Given the description of an element on the screen output the (x, y) to click on. 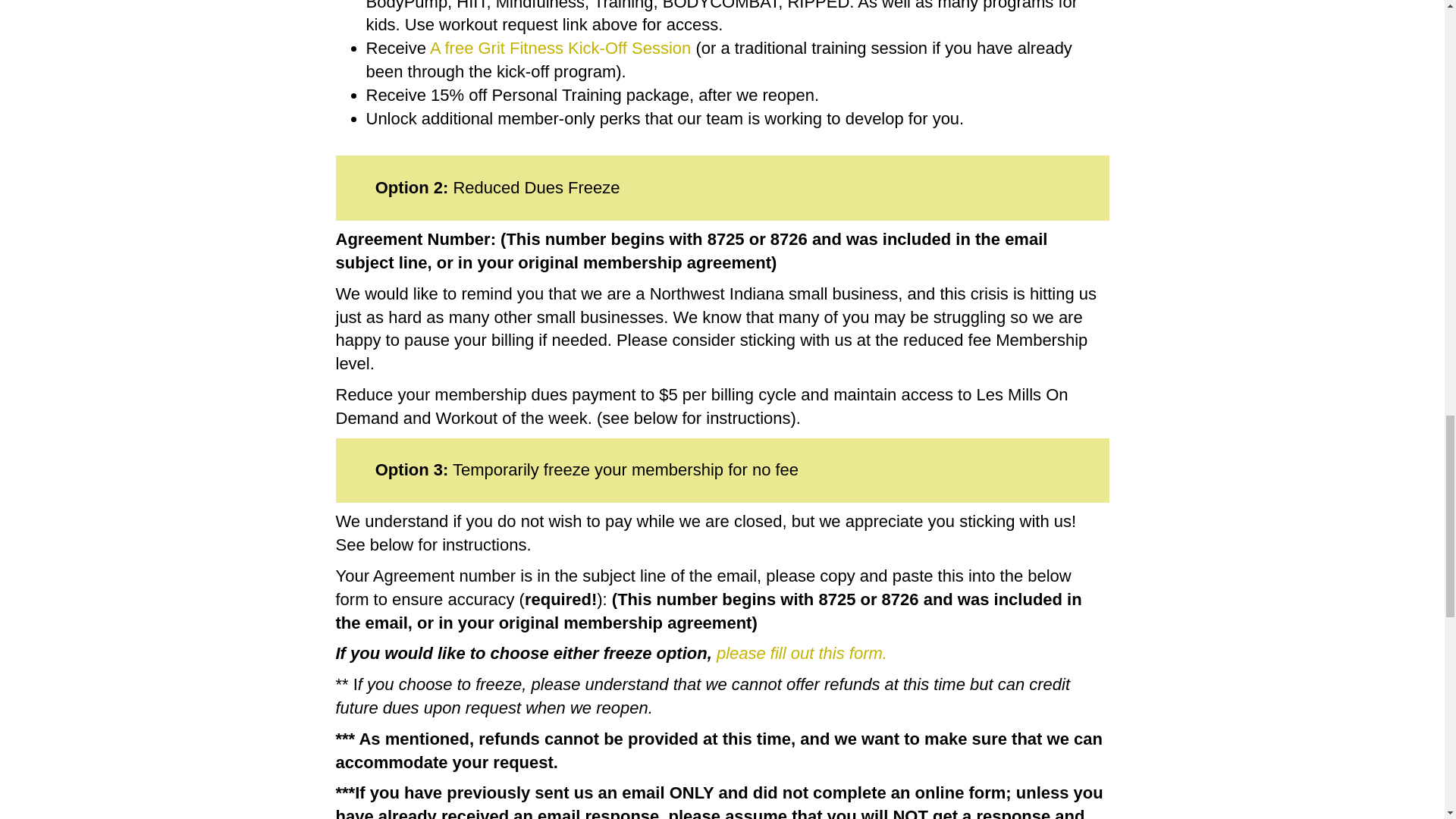
 please fill out this form. (798, 652)
A free Grit Fitness Kick-Off Session (559, 47)
